Given the description of an element on the screen output the (x, y) to click on. 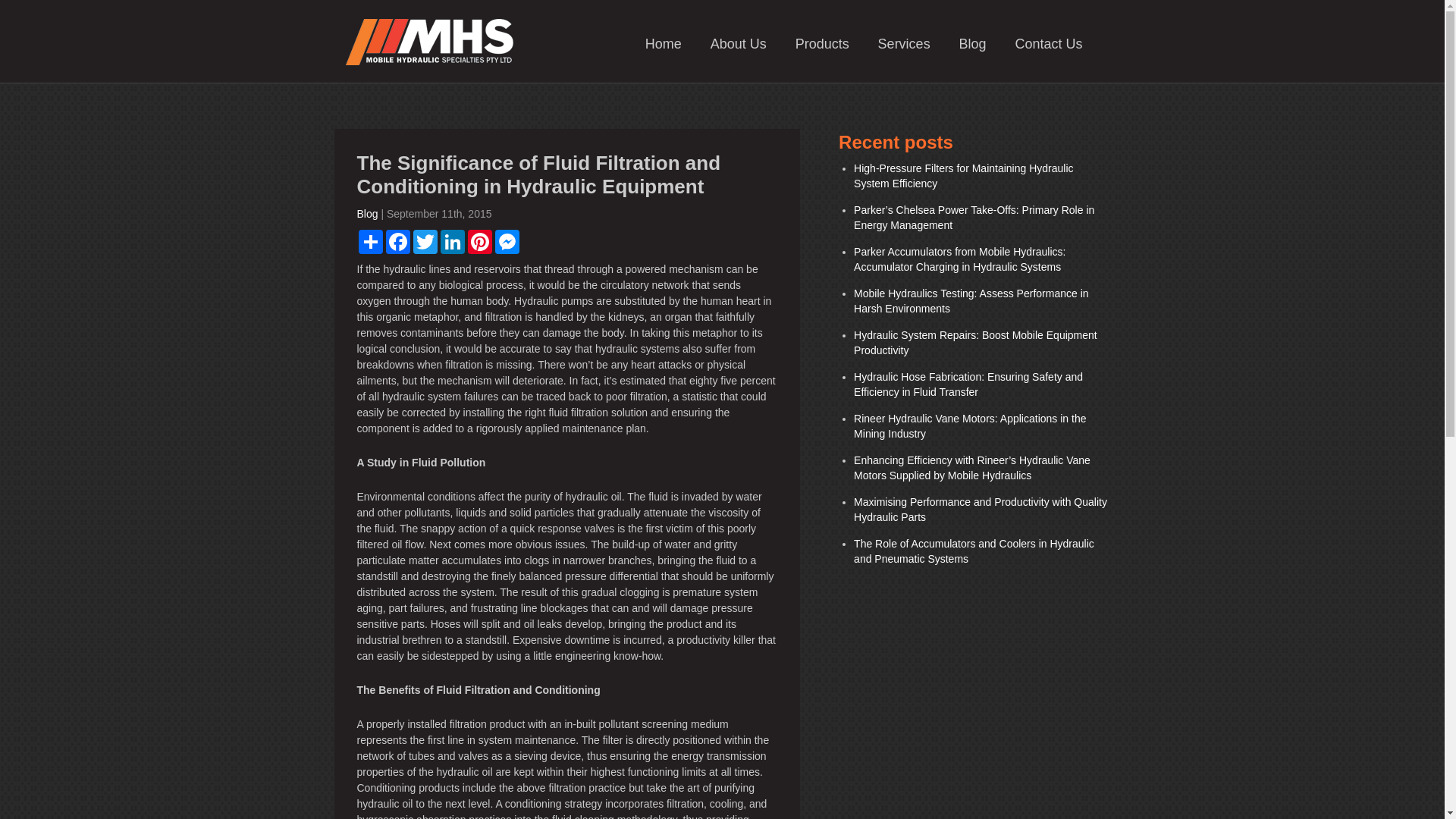
LinkedIn Element type: text (451, 241)
Services Element type: text (904, 43)
Twitter Element type: text (424, 241)
Pinterest Element type: text (478, 241)
Blog Element type: text (972, 43)
Home Element type: text (663, 43)
About Us Element type: text (738, 43)
Facebook Element type: text (397, 241)
Blog Element type: text (366, 213)
Share Element type: text (369, 241)
Contact Us Element type: text (1048, 43)
Products Element type: text (822, 43)
Messenger Element type: text (506, 241)
